Given the description of an element on the screen output the (x, y) to click on. 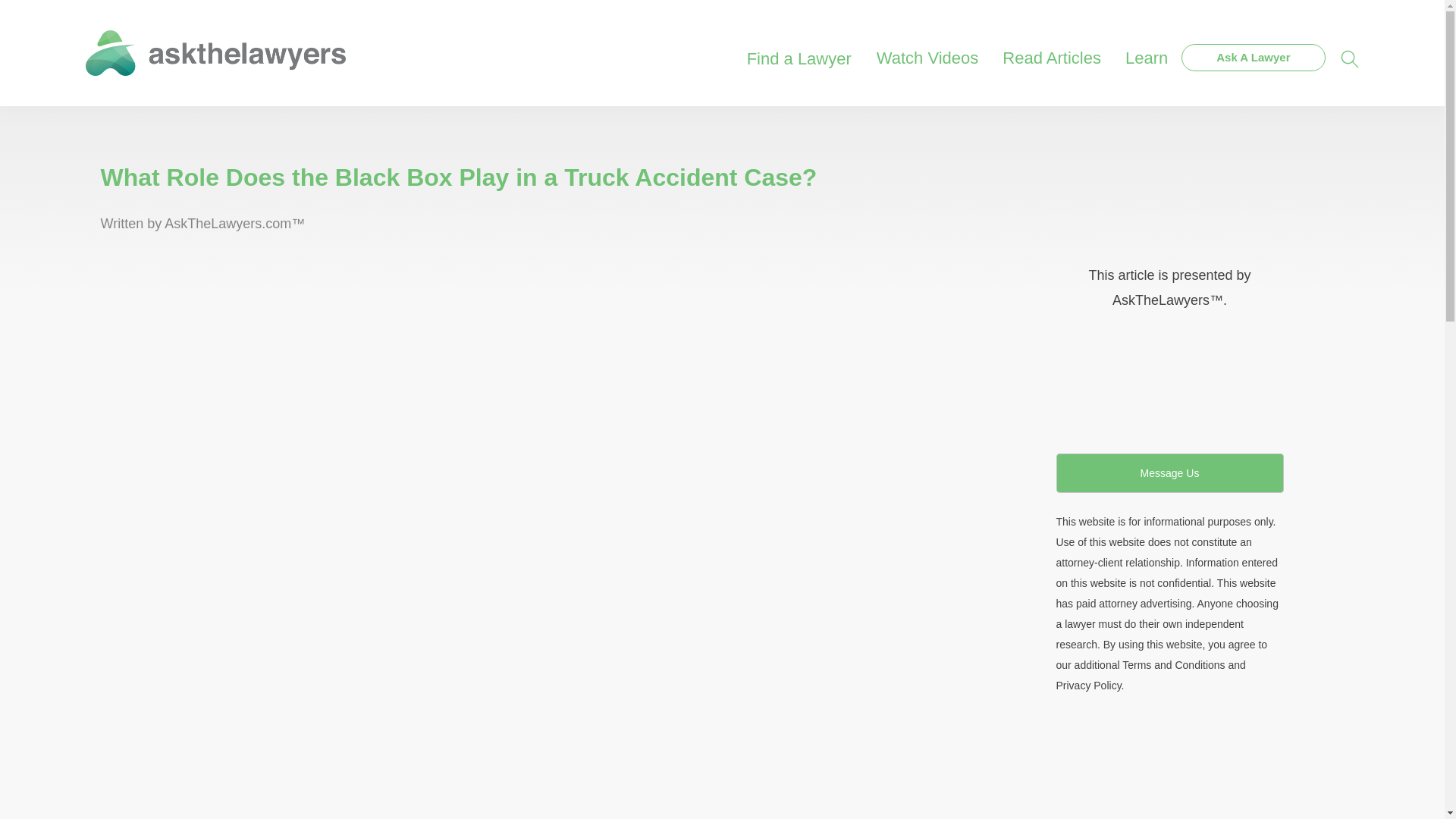
Watch Videos (927, 49)
Learn (1146, 49)
Search AskTheLawyers (1349, 58)
Read Articles (1051, 49)
